Given the description of an element on the screen output the (x, y) to click on. 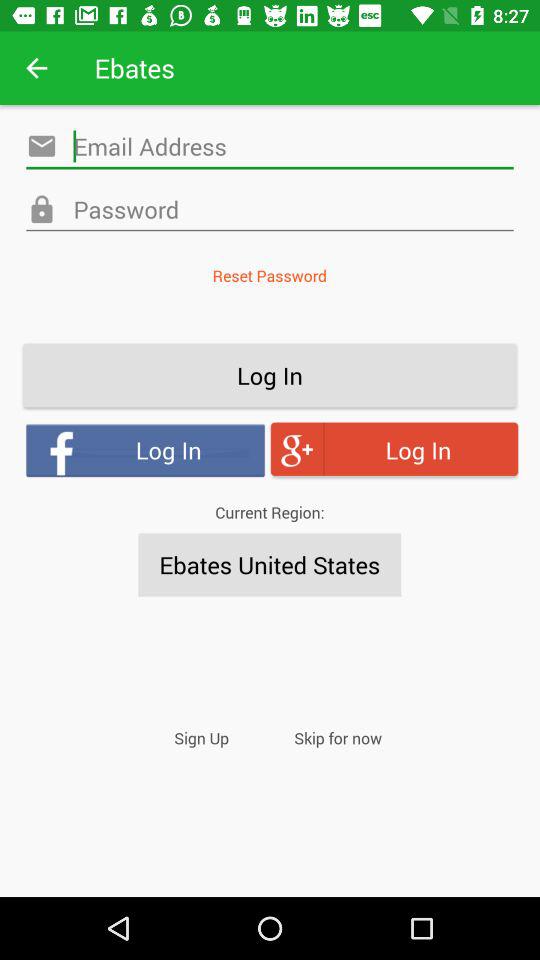
turn on icon below the current region: icon (269, 564)
